Given the description of an element on the screen output the (x, y) to click on. 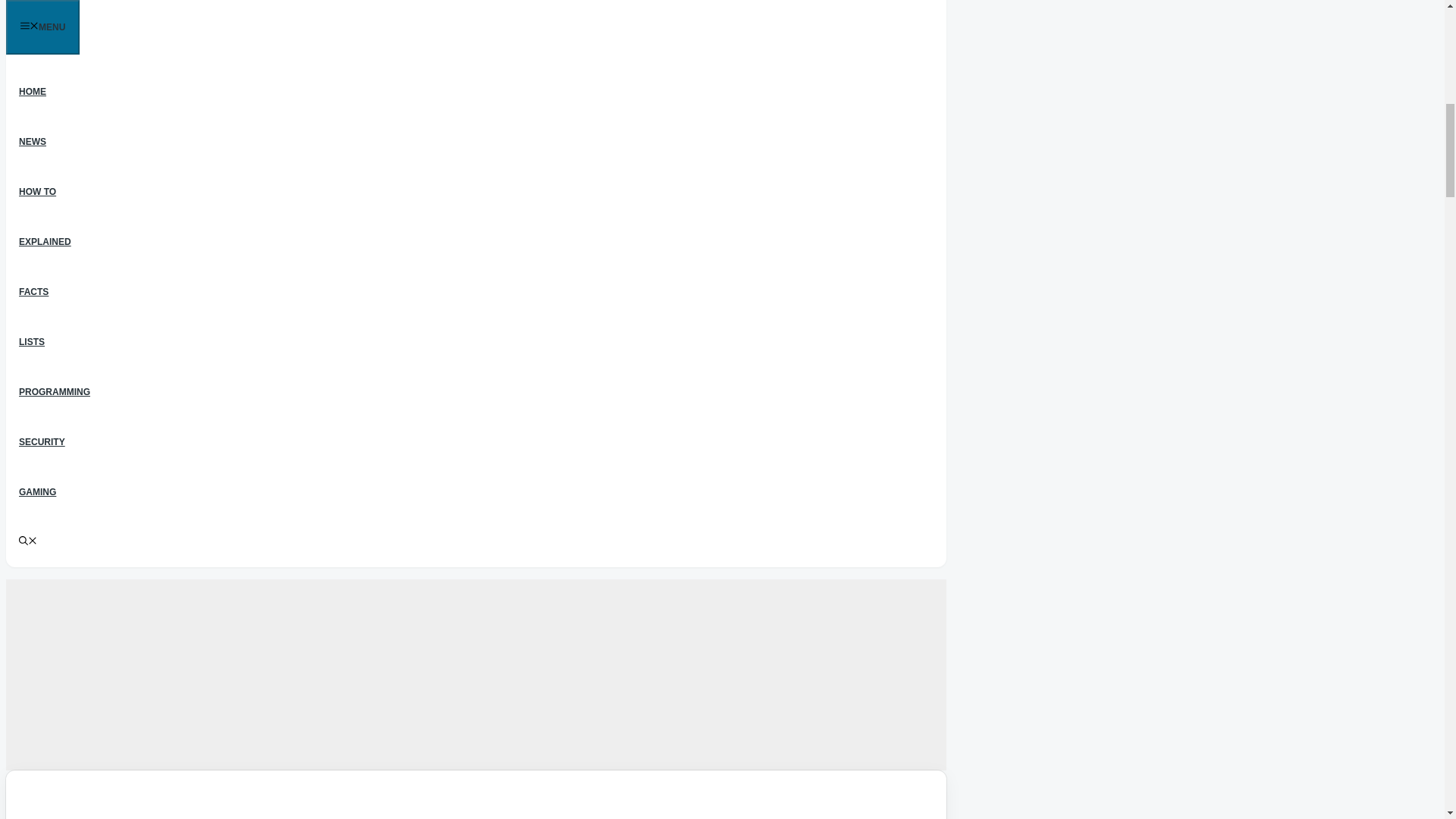
Top Lists (31, 341)
FACTS (33, 291)
MENU (42, 27)
HOW TO (36, 191)
GAMING (36, 491)
HOME (32, 91)
EXPLAINED (44, 241)
NEWS (32, 141)
LISTS (31, 341)
SECURITY (41, 441)
